Given the description of an element on the screen output the (x, y) to click on. 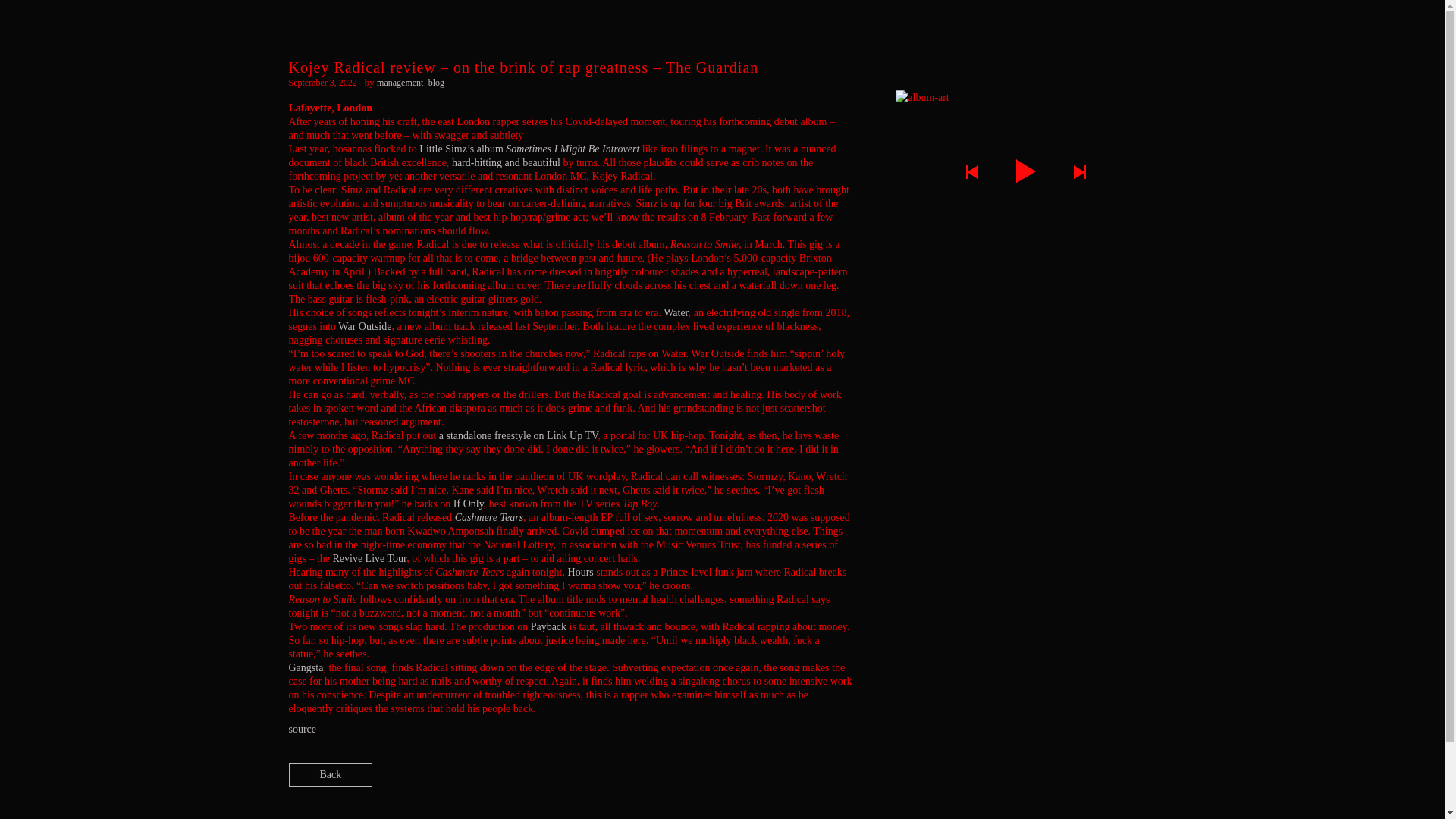
Back (330, 774)
If Only (467, 503)
Hours (580, 572)
hard-hitting and beautiful (505, 162)
Revive Live Tour (368, 558)
Water (675, 312)
Gangsta (305, 667)
source (301, 728)
War Outside (364, 326)
blog (436, 81)
